Given the description of an element on the screen output the (x, y) to click on. 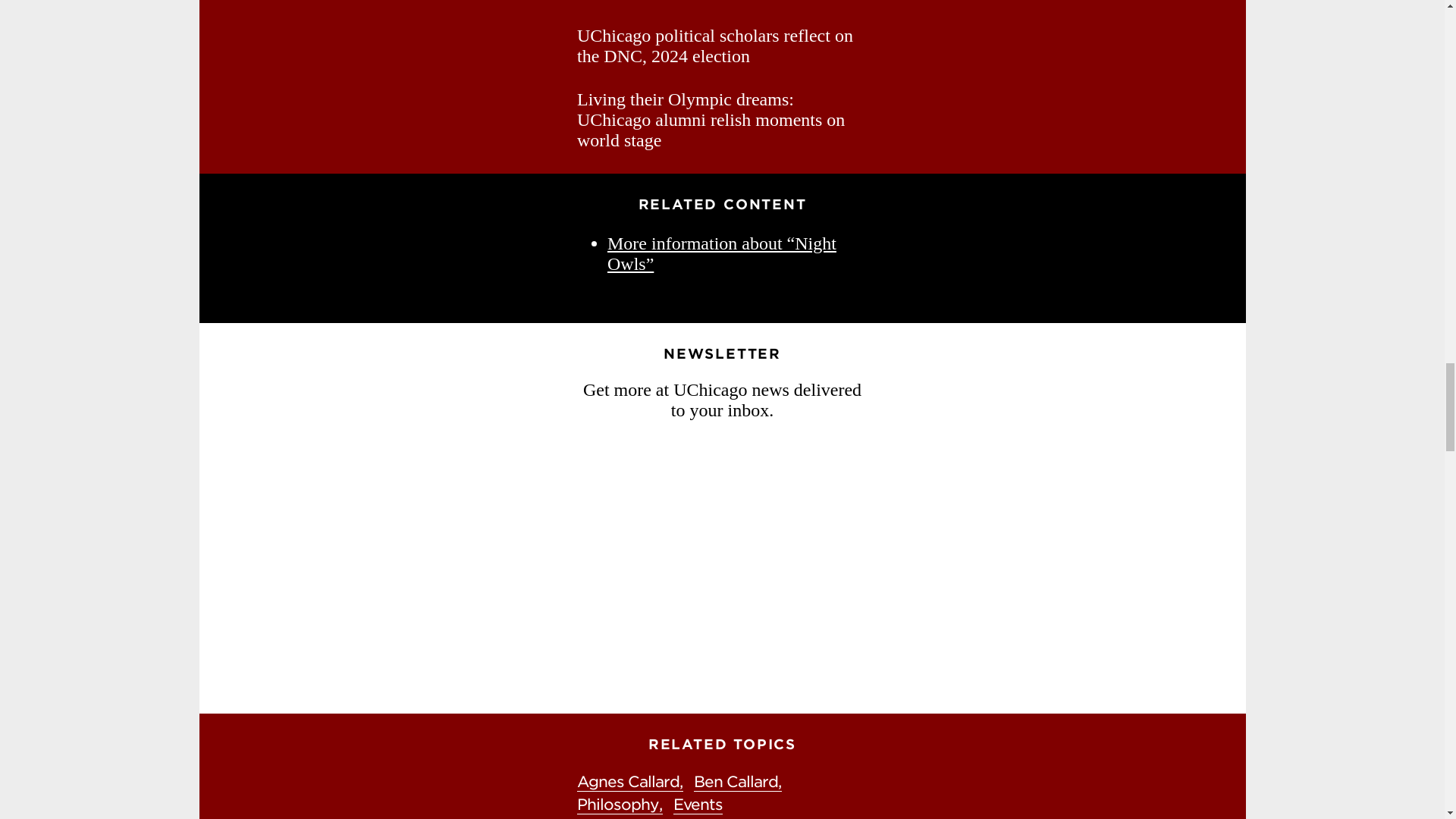
Ben Callard (737, 782)
Agnes Callard (629, 782)
Philosophy (619, 804)
Events (697, 804)
